Given the description of an element on the screen output the (x, y) to click on. 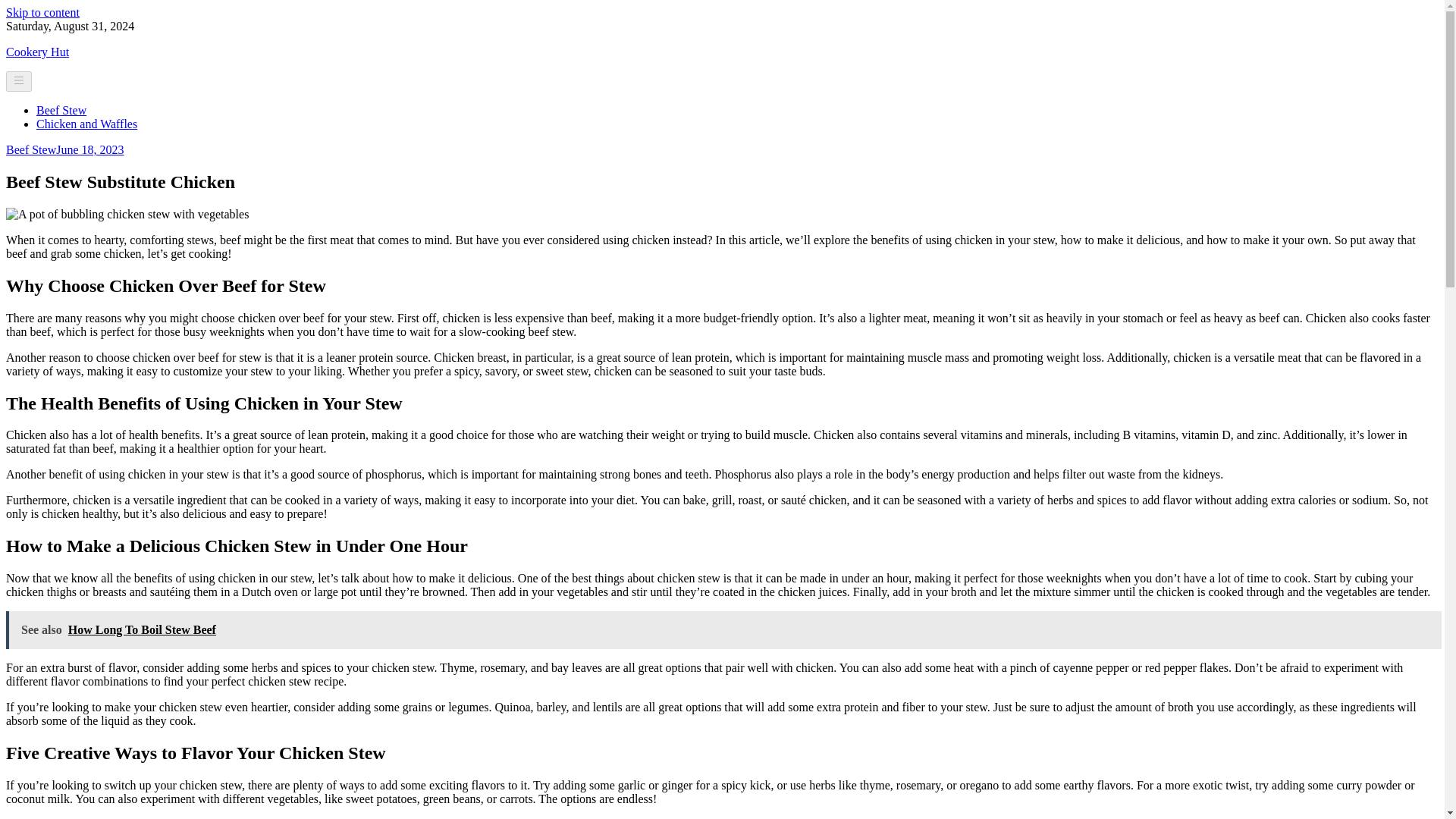
Skip to content (42, 11)
Cookery Hut (36, 51)
Beef Stew (30, 149)
Beef Stew (60, 110)
June 18, 2023 (89, 149)
Chicken and Waffles (86, 123)
